Given the description of an element on the screen output the (x, y) to click on. 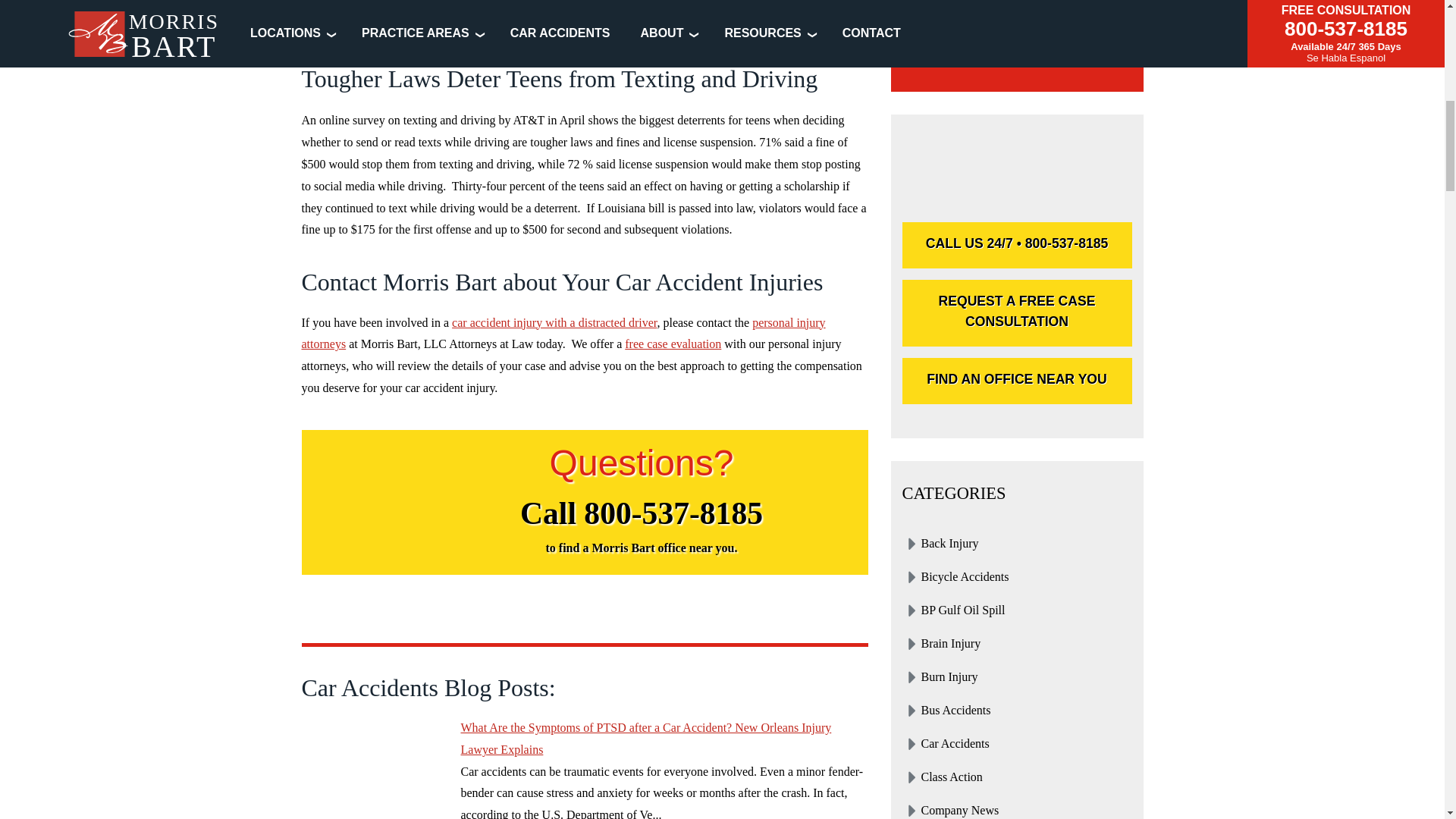
Submit Free Case Review (1017, 29)
